Given the description of an element on the screen output the (x, y) to click on. 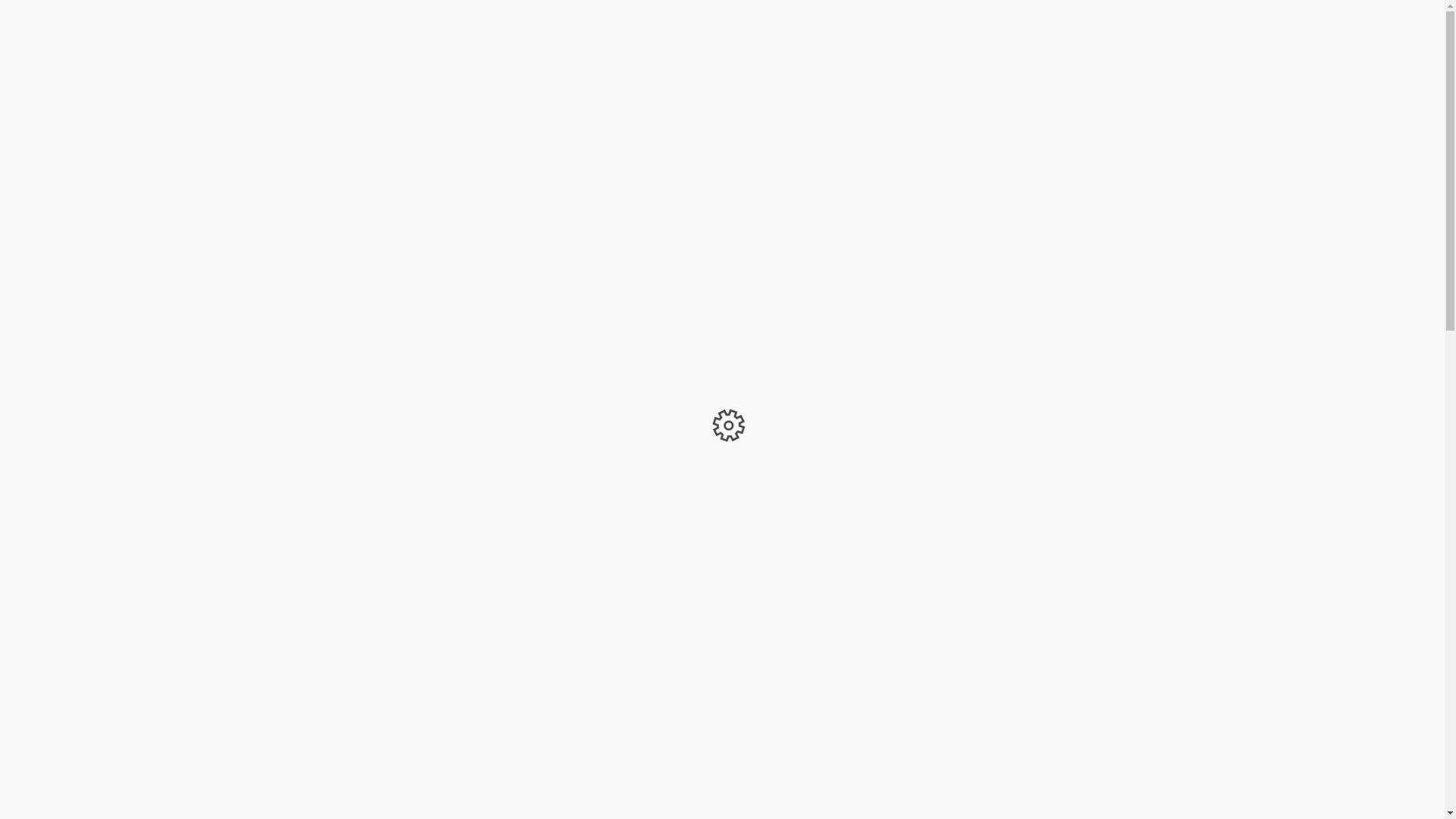
@2100 in Salt Lake City, UT Element type: hover (118, 106)
Schedule a Tour Element type: text (1359, 106)
AMENITIES Element type: text (733, 106)
HOME Element type: text (605, 106)
CONTACT Element type: text (1094, 106)
ADA Page Element type: text (1044, 23)
1977 S. 300 W Salt Lake City UT 84115 Element type: text (364, 24)
NEIGHBORHOOD Element type: text (1009, 106)
FLOOR PLANS Element type: text (813, 106)
Apartment Search Element type: text (1160, 23)
Residents Element type: text (1272, 23)
PET FRIENDLY Element type: text (1238, 106)
Apply Now Element type: text (1379, 23)
Map It Element type: text (516, 24)
REVIEWS Element type: text (1161, 106)
GALLERY Element type: text (663, 106)
VIRTUAL TOURS Element type: text (908, 106)
